Given the description of an element on the screen output the (x, y) to click on. 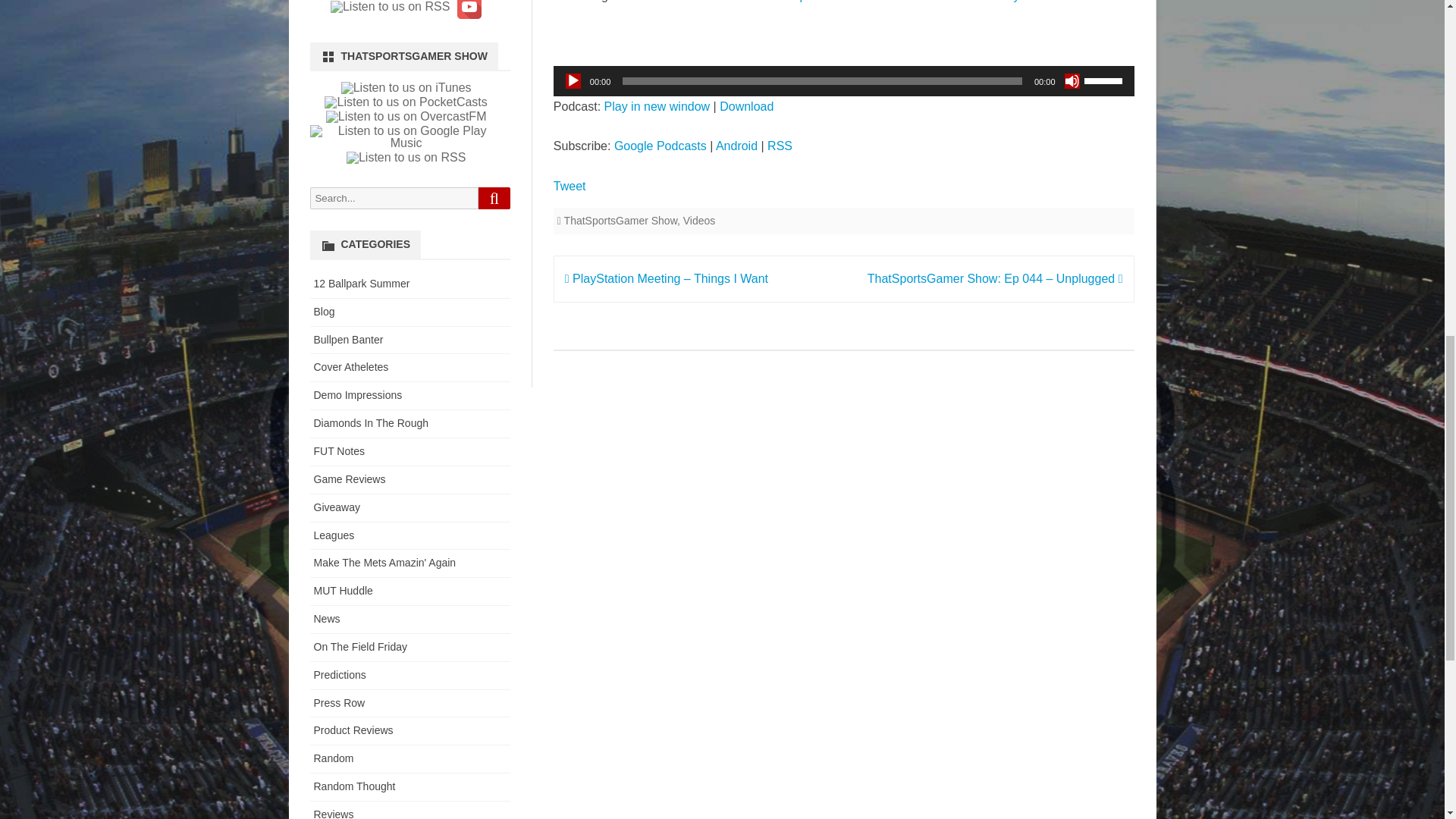
Download (746, 106)
Play (573, 80)
Subscribe via RSS (779, 145)
Subscribe on Android (736, 145)
Play in new window (657, 106)
Mute (1072, 80)
Subscribe on Google Podcasts (660, 145)
